Given the description of an element on the screen output the (x, y) to click on. 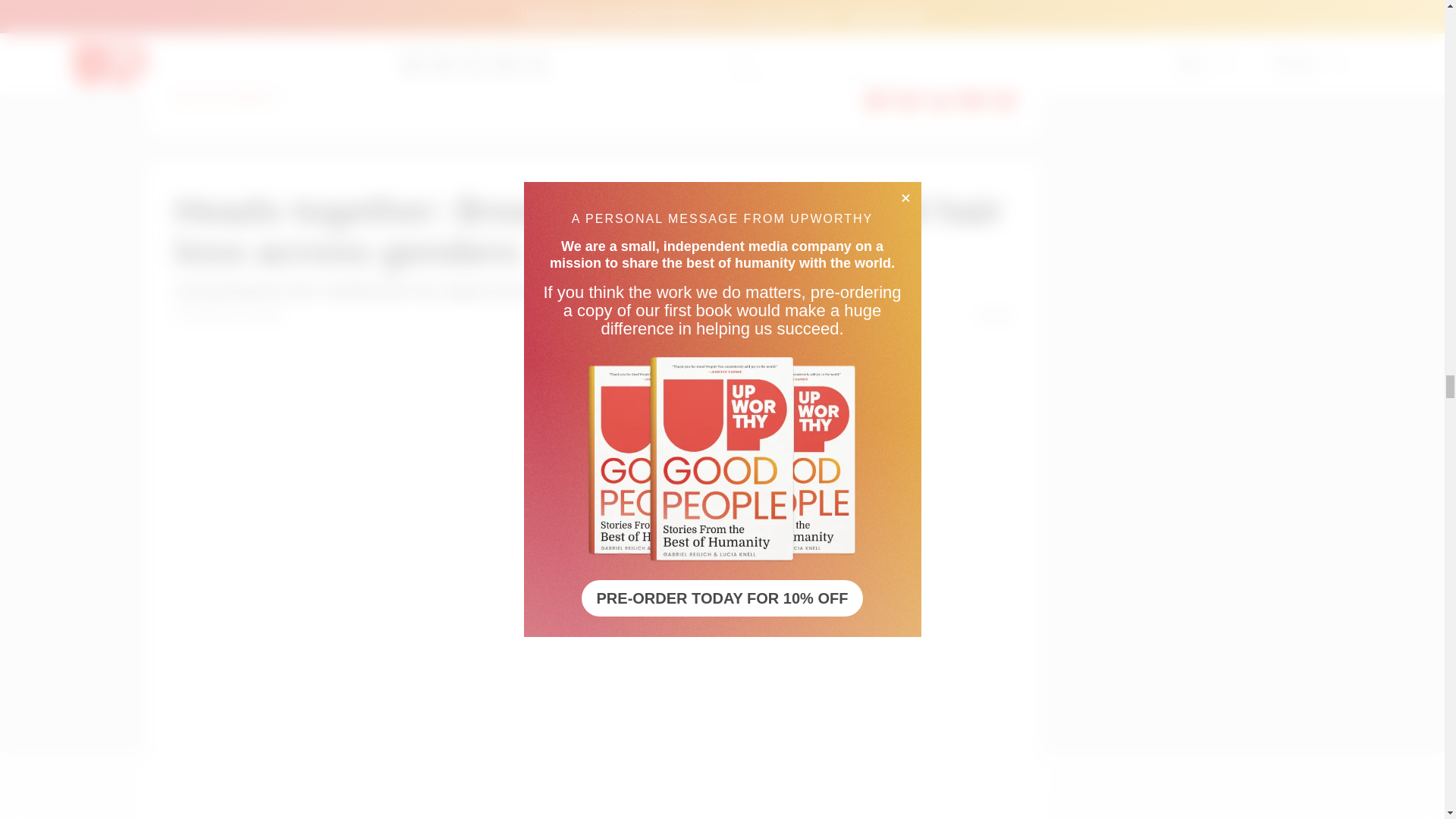
Copy this link to clipboard (1003, 96)
